Given the description of an element on the screen output the (x, y) to click on. 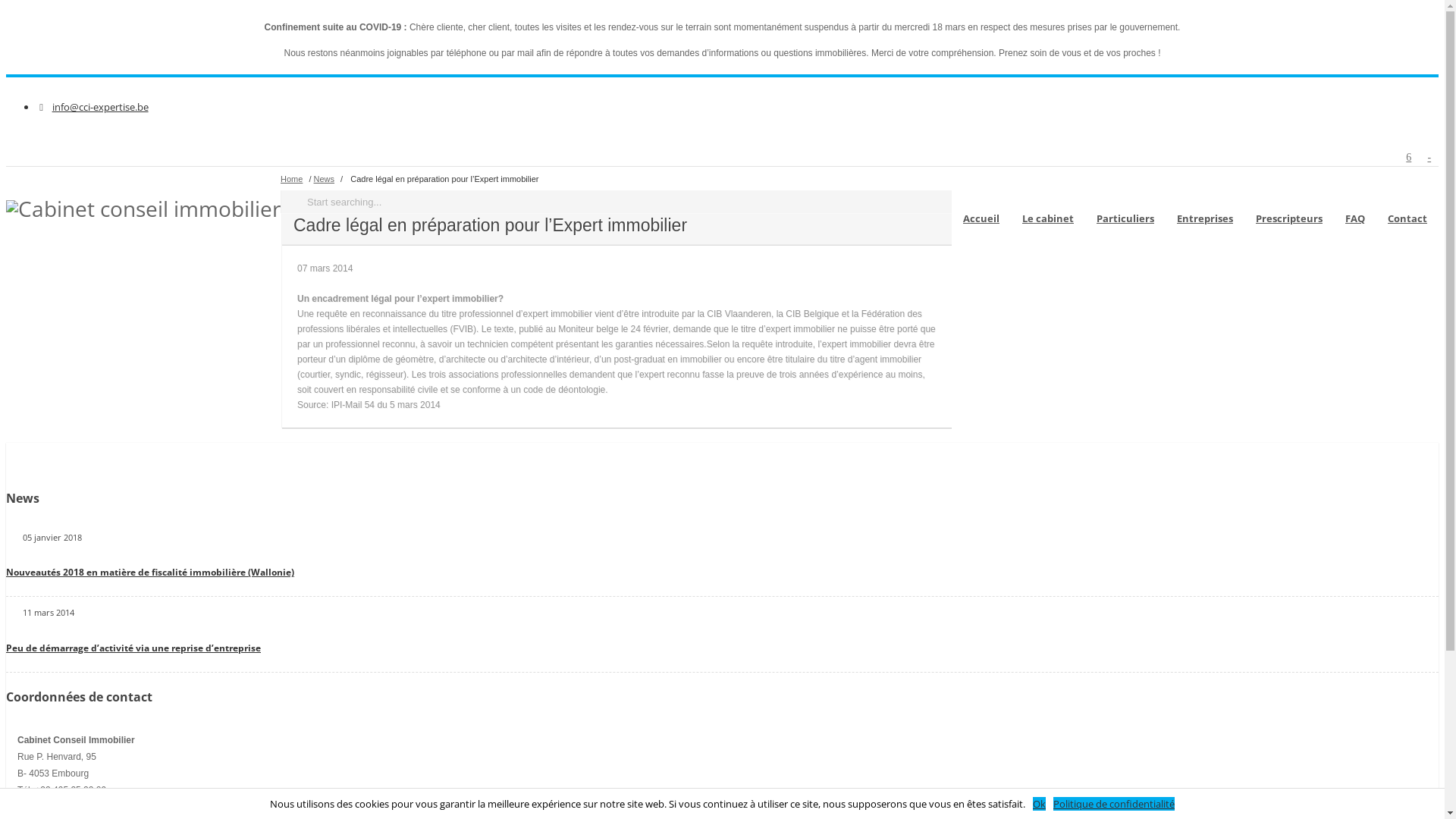
Home Element type: text (291, 178)
News Element type: text (324, 178)
FAQ Element type: text (1354, 201)
Particuliers Element type: text (1125, 201)
Ok Element type: text (1038, 803)
Cabinet conseil immobilier Element type: hover (143, 208)
Prescripteurs Element type: text (1288, 201)
Accueil Element type: text (980, 201)
Entreprises Element type: text (1204, 201)
linkedin Element type: hover (1408, 156)
vimeo Element type: hover (1429, 156)
Le cabinet Element type: text (1047, 201)
info@cci-expertise.be Element type: text (100, 106)
Contact Element type: text (1407, 201)
